Given the description of an element on the screen output the (x, y) to click on. 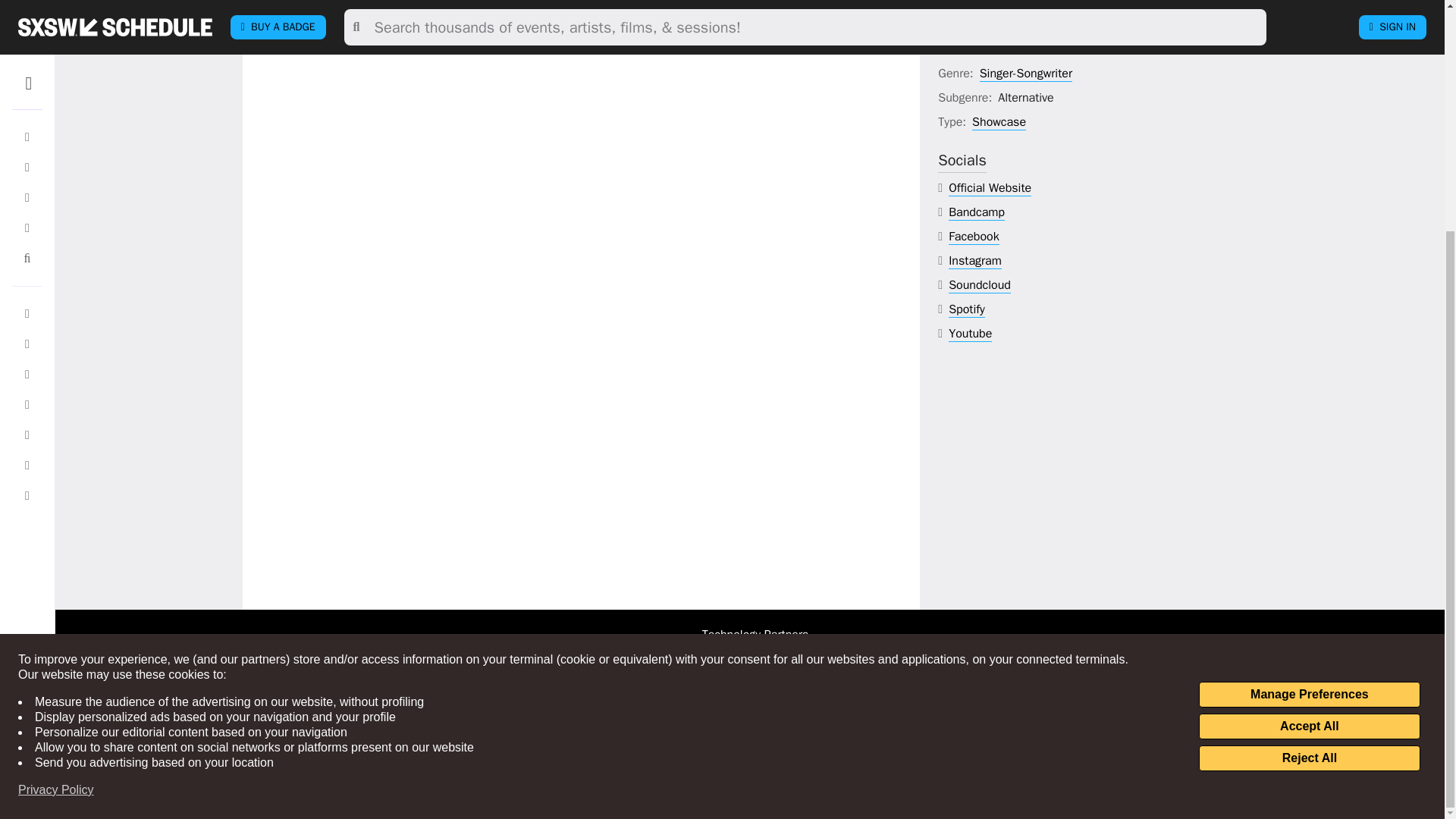
facebook (973, 236)
Privacy Policy (55, 477)
instagram (975, 261)
bandcamp (976, 212)
spotify (967, 309)
Reject All (1309, 445)
soundcloud (979, 285)
Manage Preferences (1309, 381)
youtube (970, 333)
Accept All (1309, 413)
website (989, 188)
